Given the description of an element on the screen output the (x, y) to click on. 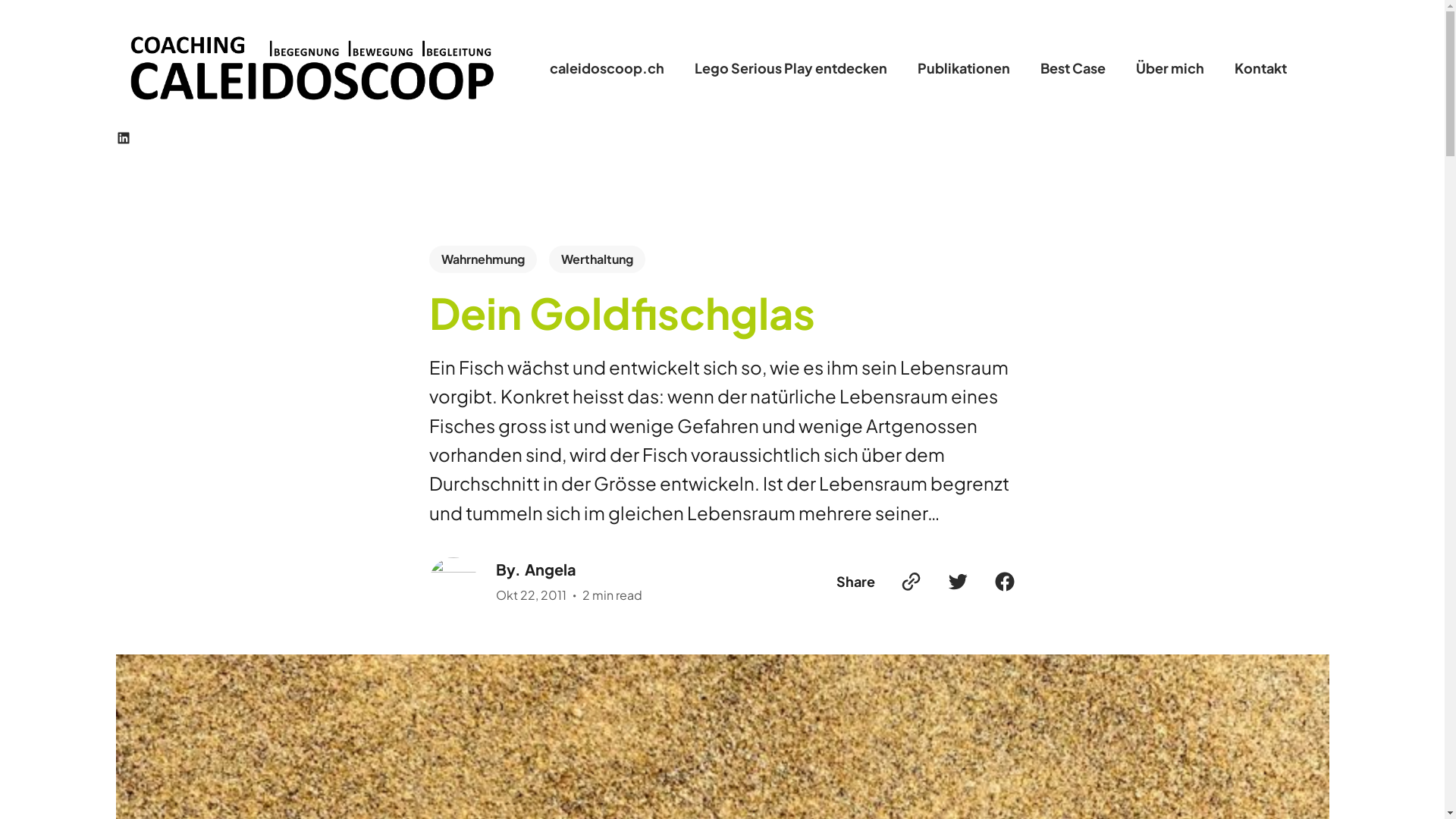
Wahrnehmung Element type: text (482, 259)
LinkedIn Element type: text (122, 137)
Werthaltung Element type: text (597, 259)
Publikationen Element type: text (963, 68)
Link Element type: text (910, 581)
Facebook Element type: text (1004, 581)
Lego Serious Play entdecken Element type: text (790, 68)
caleidoscoop.ch Element type: text (606, 68)
Best Case Element type: text (1072, 68)
Twitter Element type: text (957, 581)
Kontakt Element type: text (1260, 68)
